Given the description of an element on the screen output the (x, y) to click on. 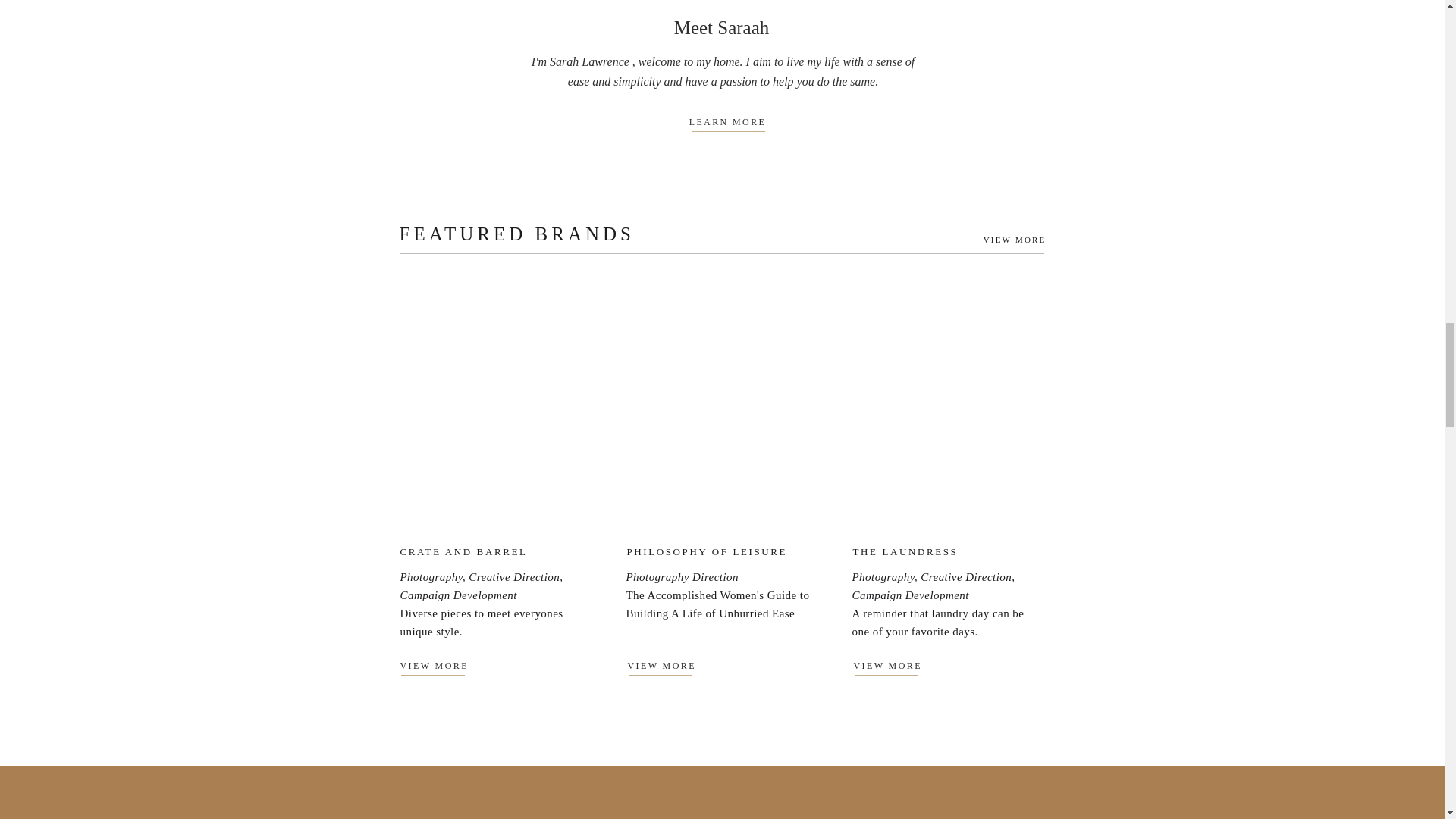
VIEW MORE (666, 666)
VIEW MORE (893, 666)
LEARN MORE (727, 123)
VIEW MORE (996, 239)
CRATE AND BARREL (463, 549)
PHILOSOPHY OF LEISURE (722, 549)
THE LAUNDRESS (915, 549)
VIEW MORE (439, 666)
